Given the description of an element on the screen output the (x, y) to click on. 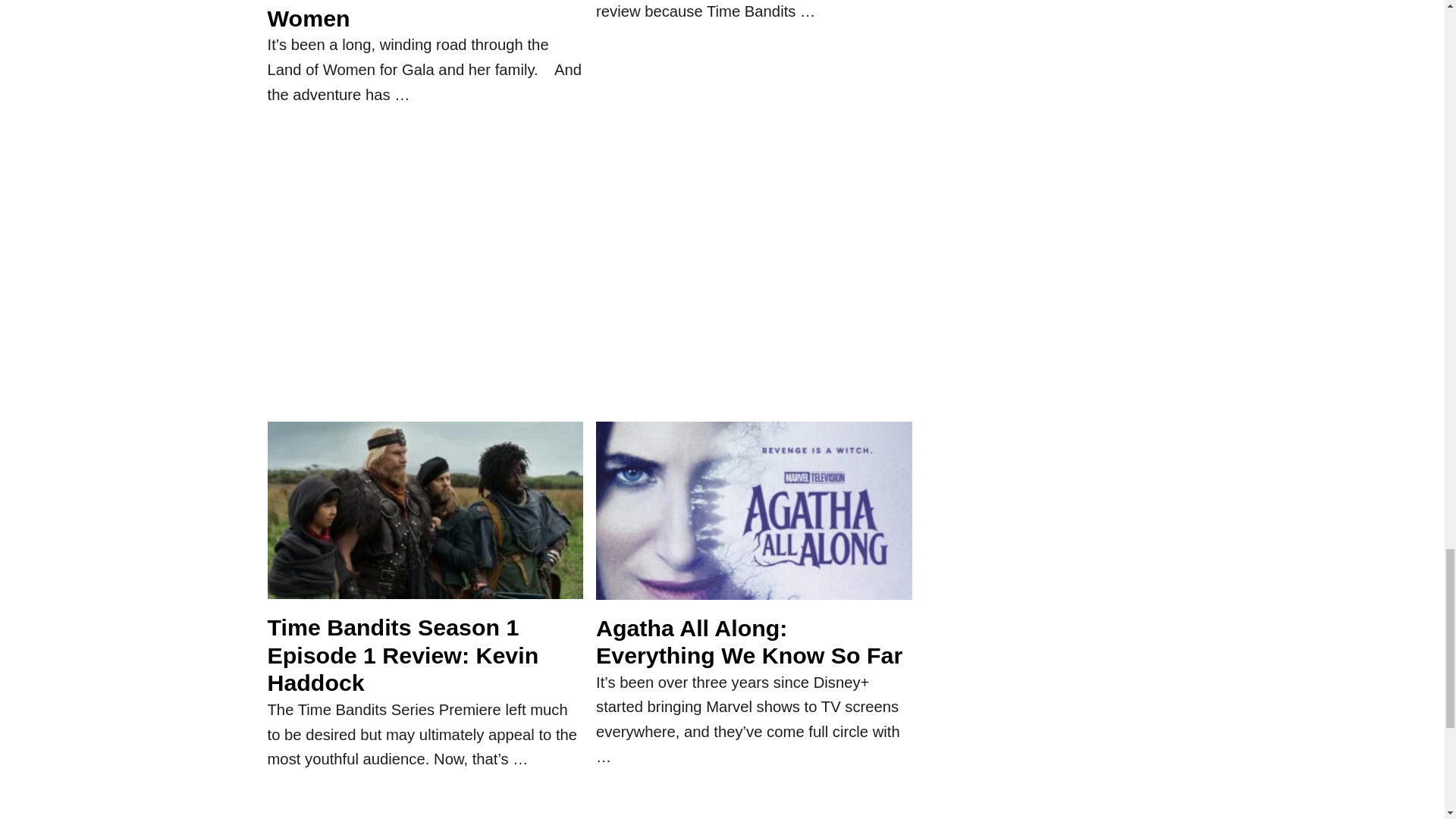
Agatha All Along: Everything We Know So Far (753, 518)
Time Bandits Season 1 Episode 1 Review: Kevin Haddock (424, 517)
